Given the description of an element on the screen output the (x, y) to click on. 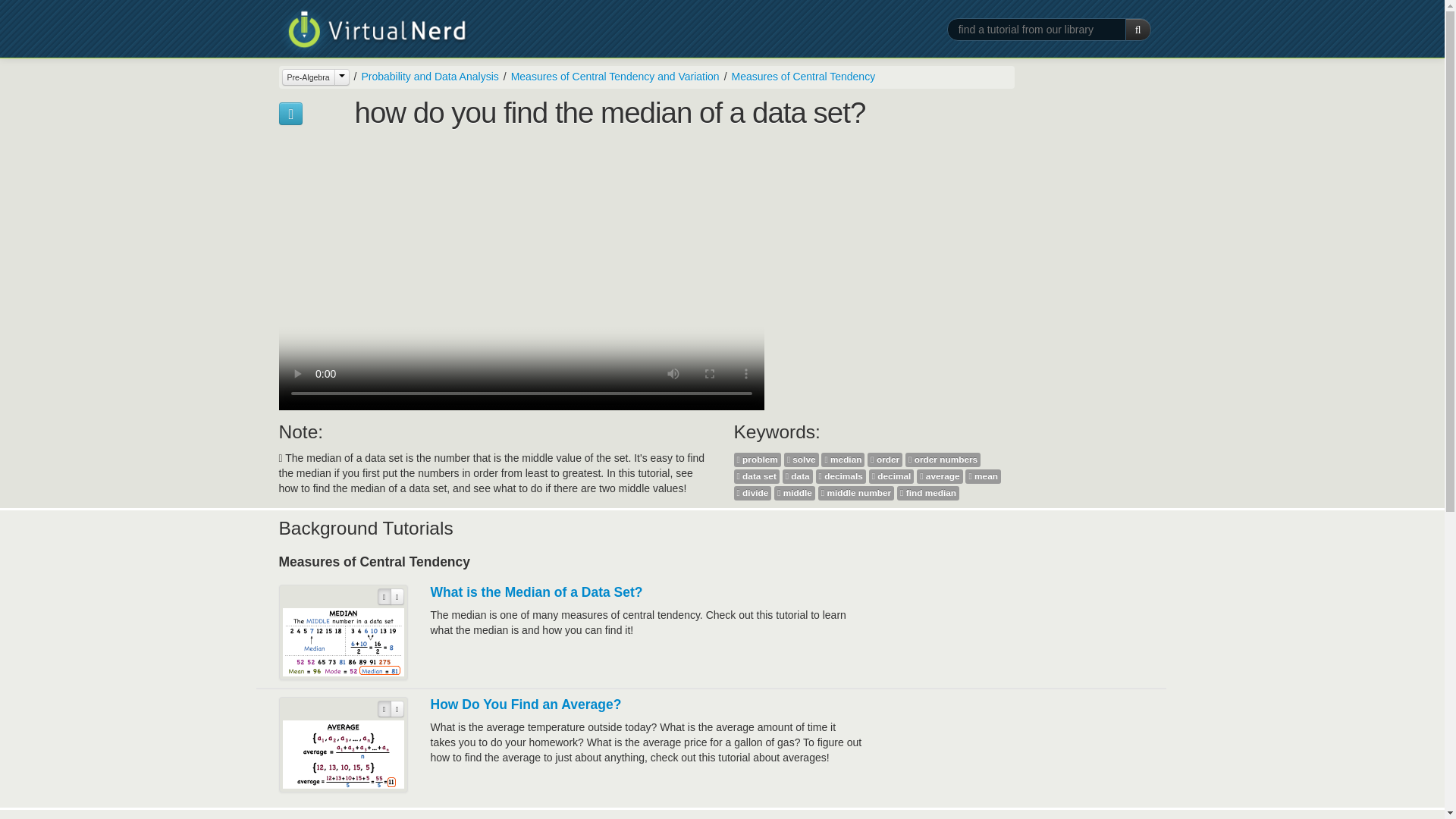
Pre-Algebra (308, 76)
Probability and Data Analysis (429, 76)
Pre-Algebra (315, 76)
Measures of Central Tendency (804, 76)
Measures of Central Tendency (797, 76)
Measures of Central Tendency and Variation (615, 76)
Measures of Central Tendency and Variation (609, 76)
What is the Median of a Data Set? (536, 591)
Probability and Data Analysis (424, 76)
Virtual Nerd (373, 32)
